Given the description of an element on the screen output the (x, y) to click on. 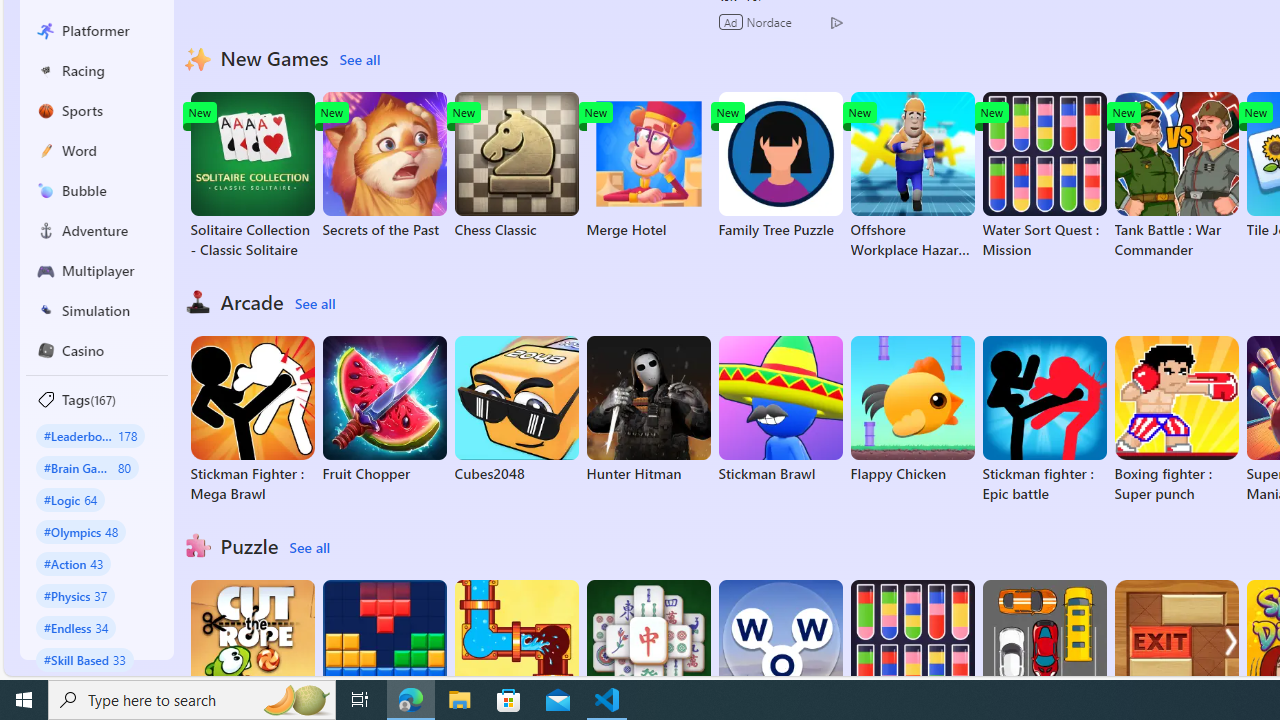
#Endless 34 (75, 627)
Chess Classic (516, 165)
Solitaire Collection - Classic Solitaire (251, 175)
Class: ad-choice  ad-choice-mono  (836, 21)
#Skill Based 33 (84, 659)
Boxing fighter : Super punch (1176, 419)
Stickman Brawl (780, 409)
Stickman fighter : Epic battle (1044, 419)
Offshore Workplace Hazard Game (912, 175)
#Leaderboard 178 (90, 435)
#Physics 37 (75, 595)
Family Tree Puzzle (780, 165)
#Brain Games 80 (87, 467)
Hunter Hitman (648, 409)
